Given the description of an element on the screen output the (x, y) to click on. 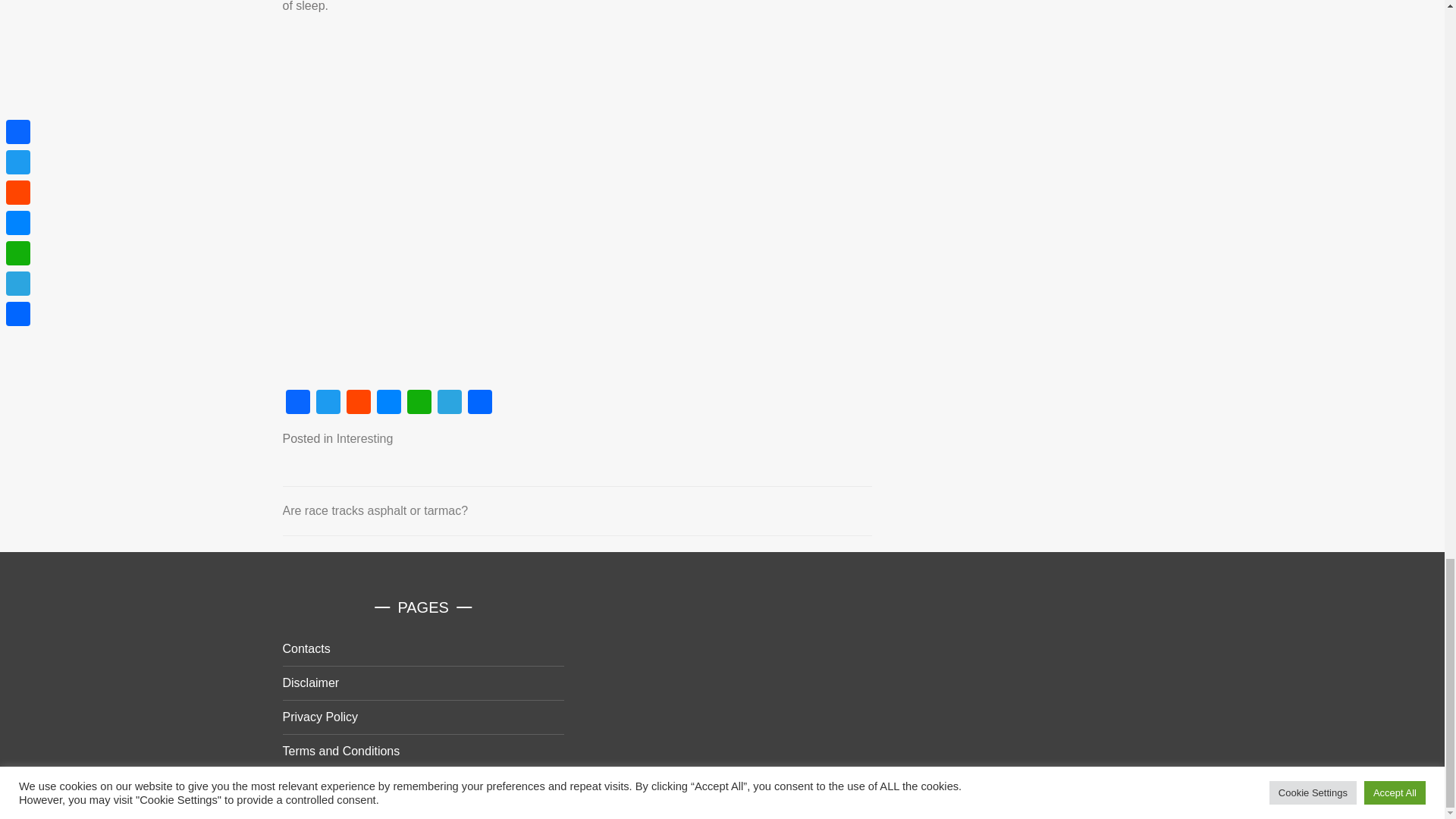
WhatsApp (418, 403)
Telegram (448, 403)
Twitter (327, 403)
Are race tracks asphalt or tarmac? (374, 510)
Facebook (297, 403)
Interesting (364, 438)
Reddit (357, 403)
Telegram (448, 403)
WhatsApp (418, 403)
Twitter (327, 403)
Reddit (357, 403)
Messenger (387, 403)
Facebook (297, 403)
Messenger (387, 403)
